Given the description of an element on the screen output the (x, y) to click on. 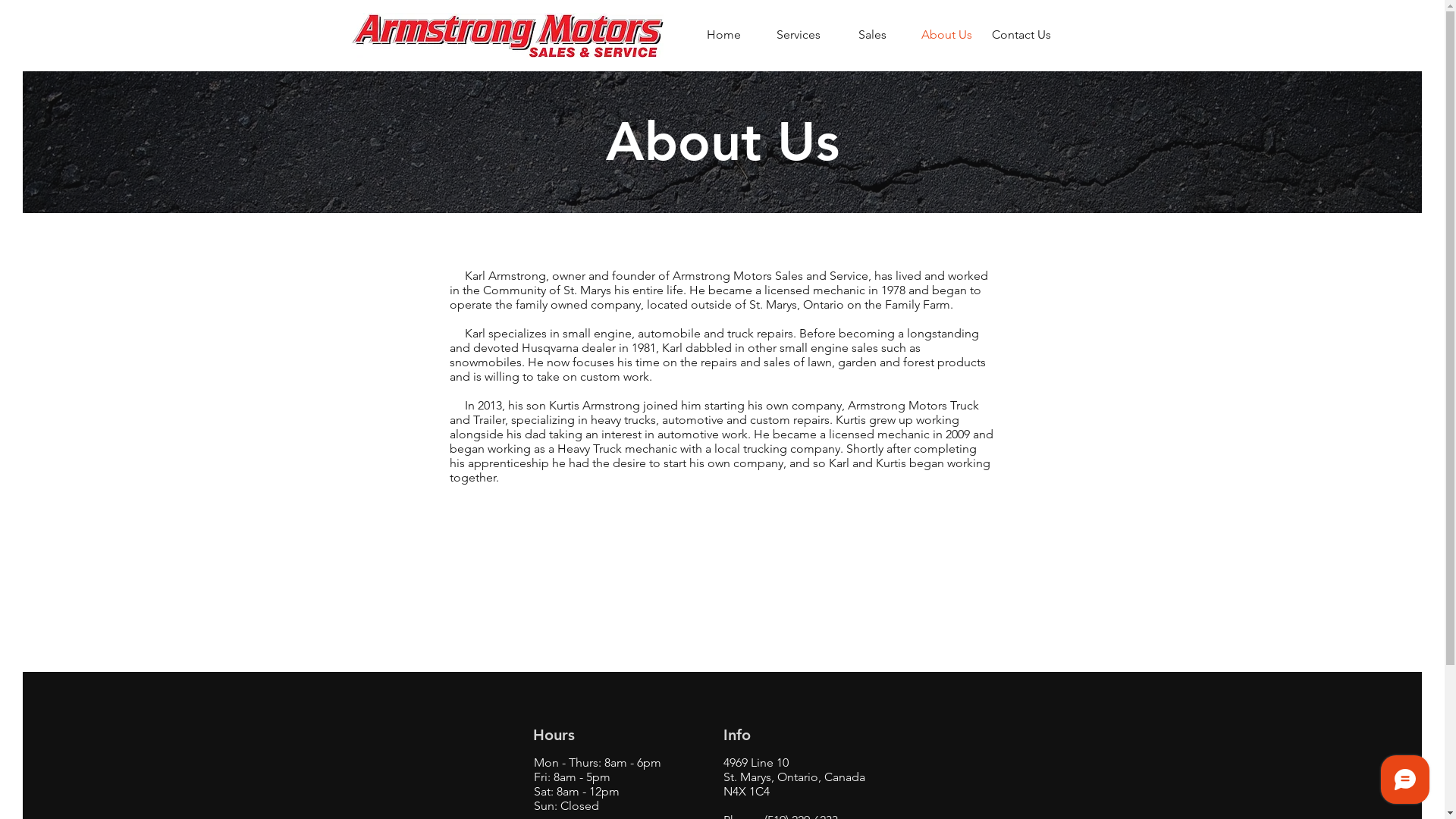
Home Element type: text (724, 34)
Services Element type: text (798, 34)
Contact Us Element type: text (1021, 34)
About Us Element type: text (947, 34)
Sales Element type: text (872, 34)
